Given the description of an element on the screen output the (x, y) to click on. 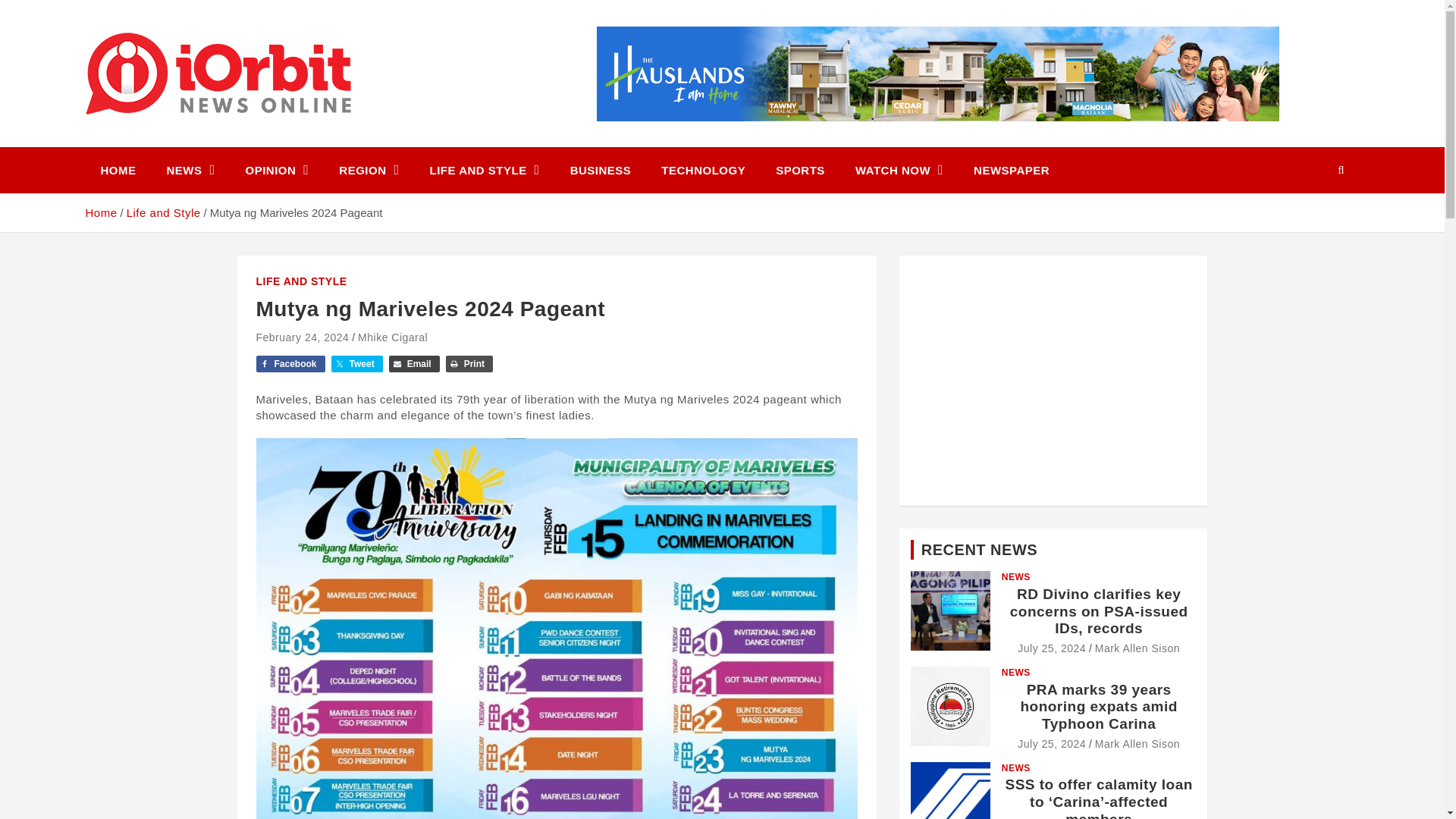
PRA marks 39 years honoring expats amid Typhoon Carina (1051, 743)
Share on Twitter (356, 363)
Mutya ng Mariveles 2024 Pageant (302, 337)
Home (100, 212)
Email (413, 363)
WATCH NOW (899, 170)
SPORTS (800, 170)
RD Divino clarifies key concerns on PSA-issued IDs, records (1051, 648)
TECHNOLOGY (703, 170)
BUSINESS (600, 170)
NEWS (190, 170)
HOME (117, 170)
OPINION (277, 170)
iOrbit News Online (223, 143)
REGION (368, 170)
